Given the description of an element on the screen output the (x, y) to click on. 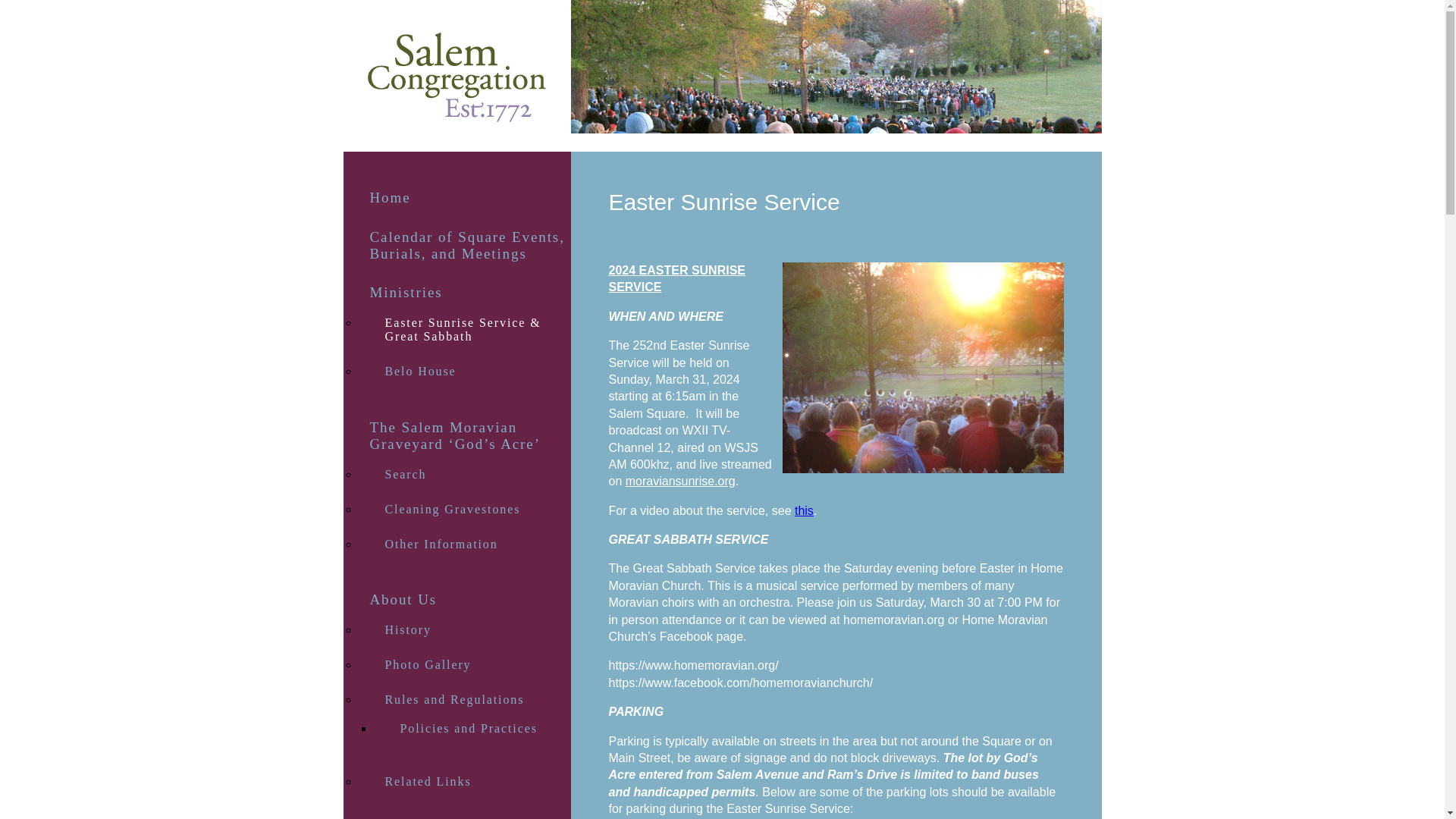
this (803, 510)
Calendar of Square Events, Burials, and Meetings (456, 245)
Related Links (464, 781)
Rules and Regulations (464, 699)
Belo House (464, 371)
Home (456, 197)
Search (464, 473)
Other Information (464, 543)
About Us (456, 599)
Policies and Practices (471, 728)
